Given the description of an element on the screen output the (x, y) to click on. 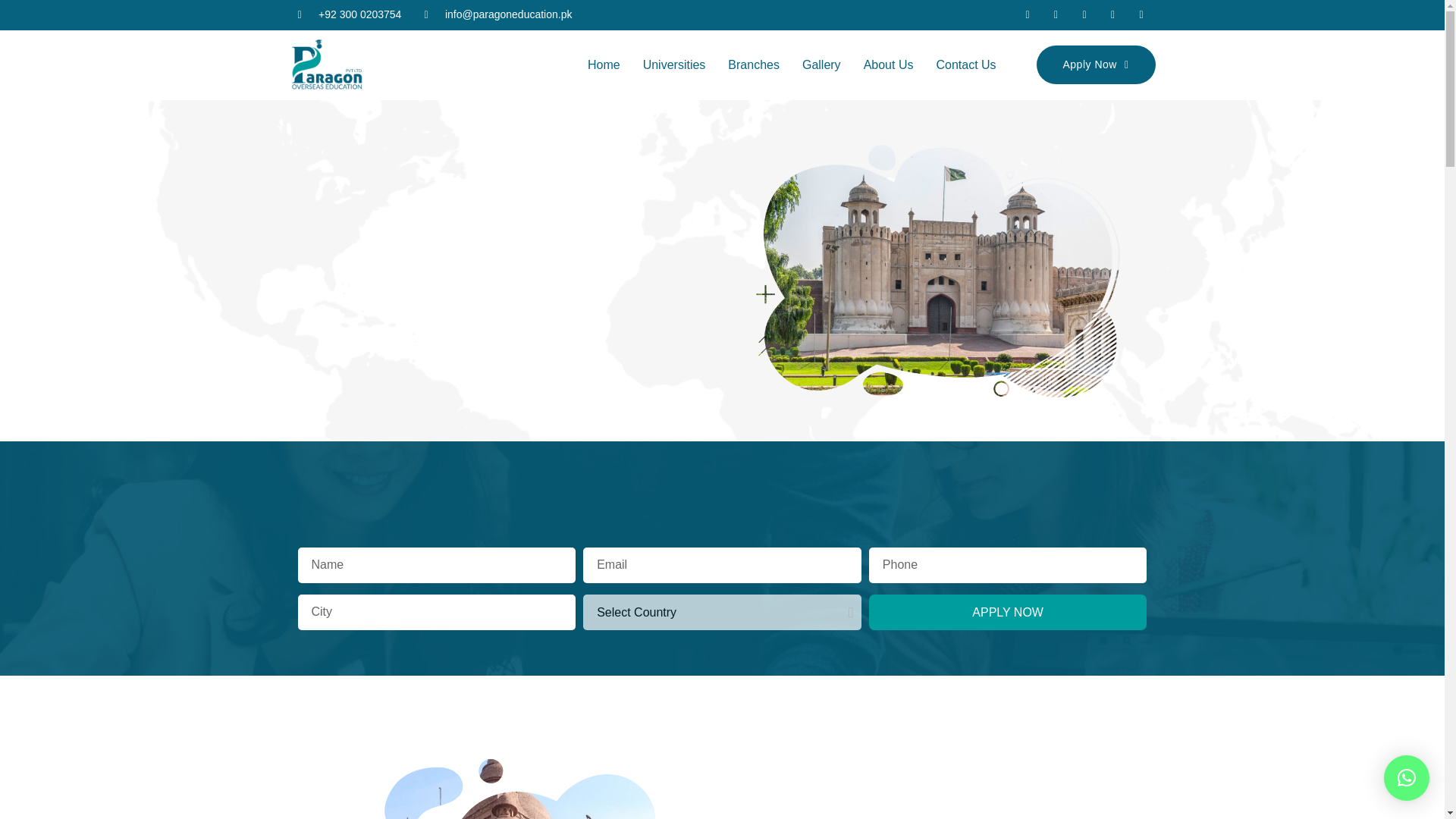
Branches (753, 65)
Home (603, 65)
About Us (887, 65)
Contact Us (965, 65)
Gallery (820, 65)
Universities (674, 65)
